Given the description of an element on the screen output the (x, y) to click on. 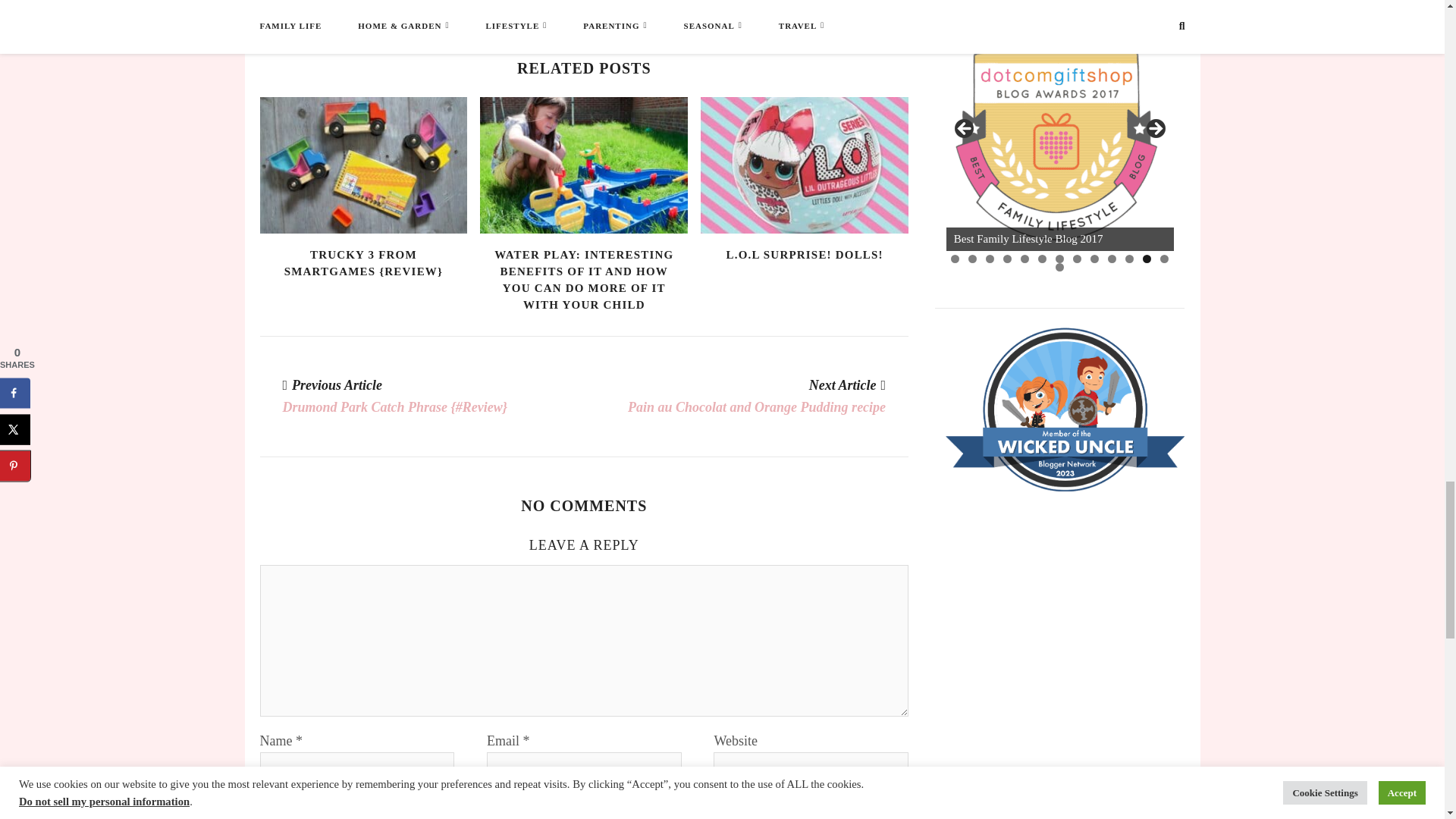
yes (264, 814)
